Given the description of an element on the screen output the (x, y) to click on. 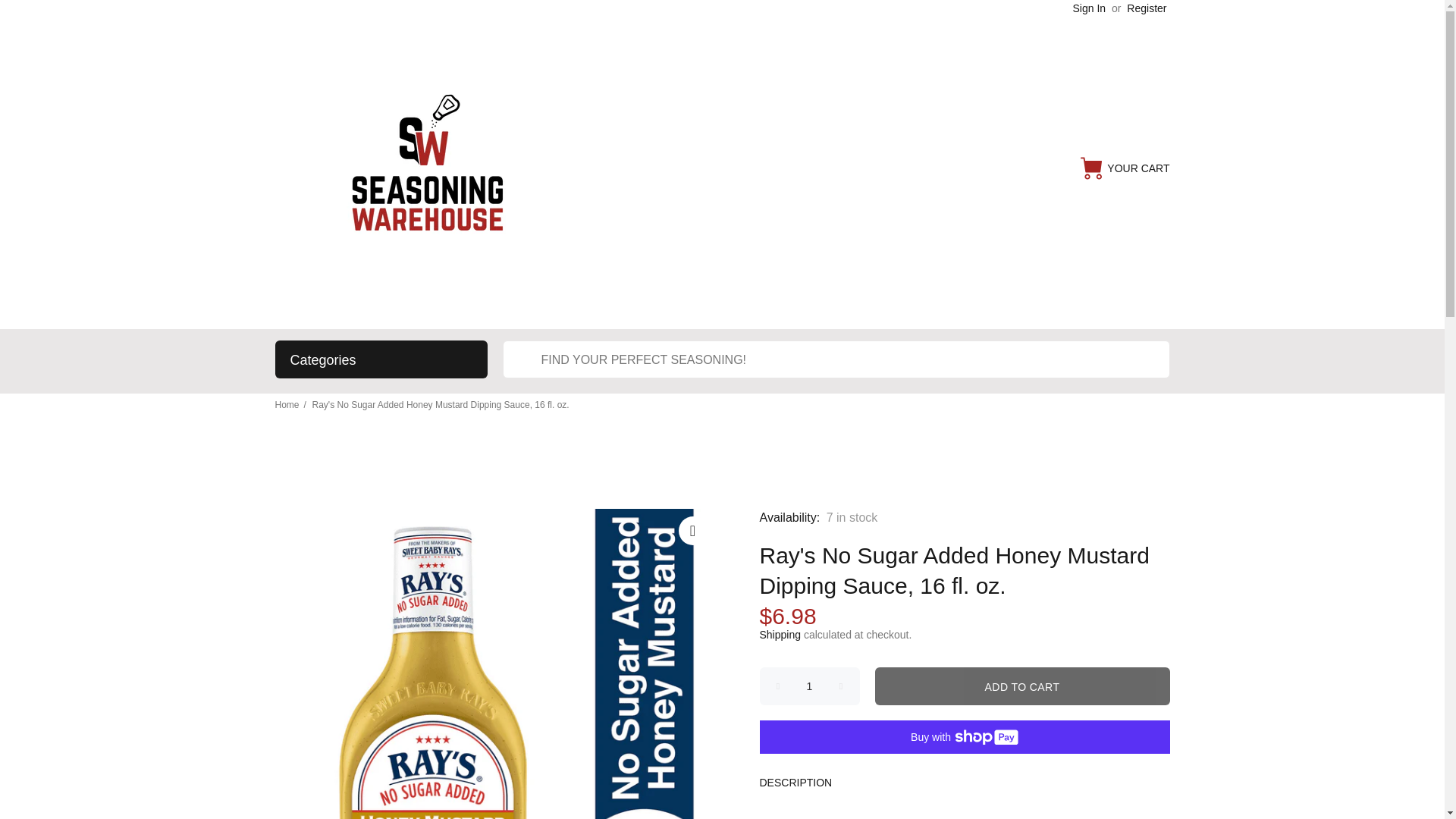
Register (1146, 8)
1 (810, 686)
Sign In (1089, 8)
YOUR CART (1124, 167)
Categories (380, 359)
